Given the description of an element on the screen output the (x, y) to click on. 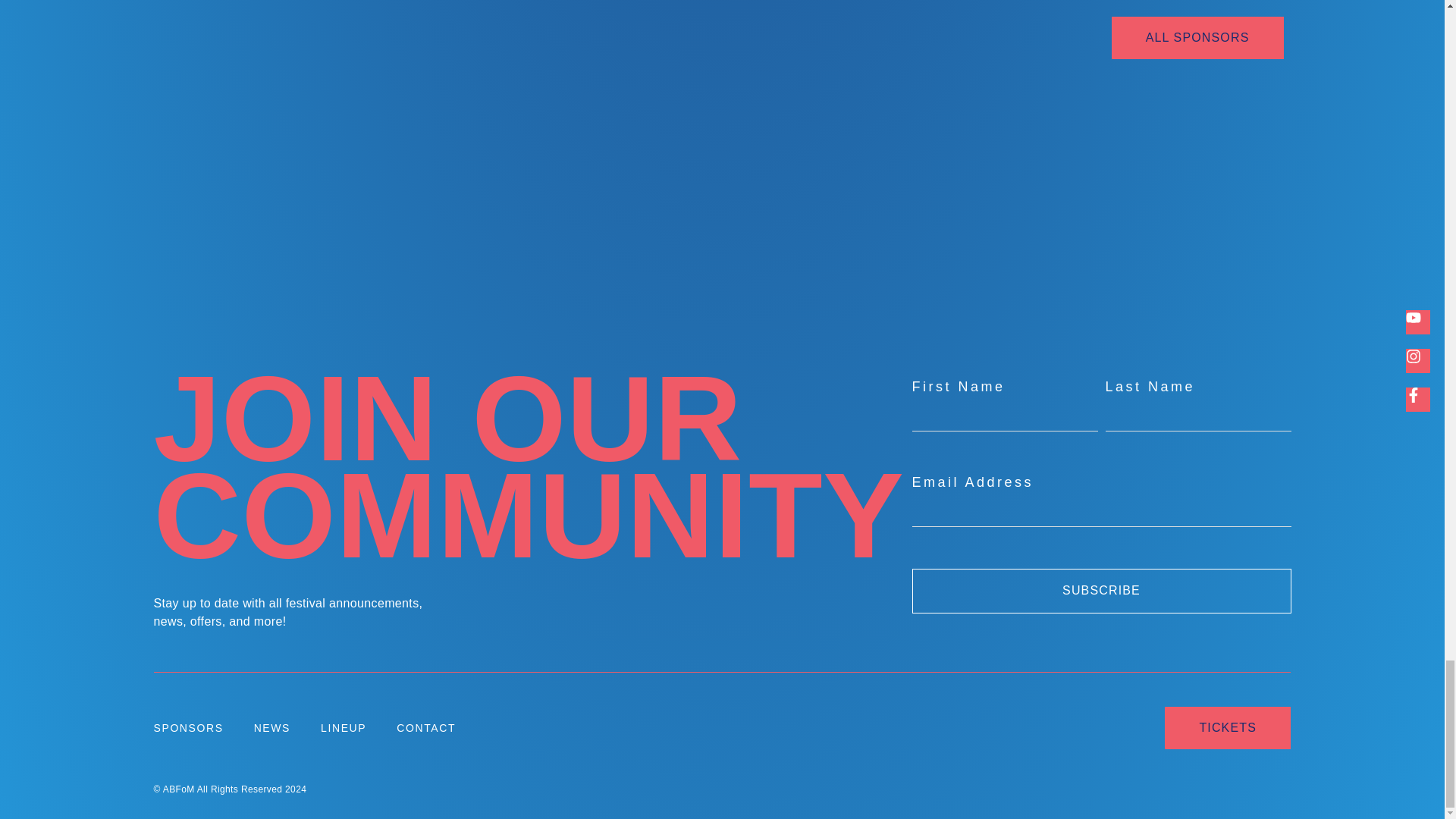
TICKETS (1227, 727)
ALL SPONSORS (1198, 37)
SUBSCRIBE (1100, 590)
